Given the description of an element on the screen output the (x, y) to click on. 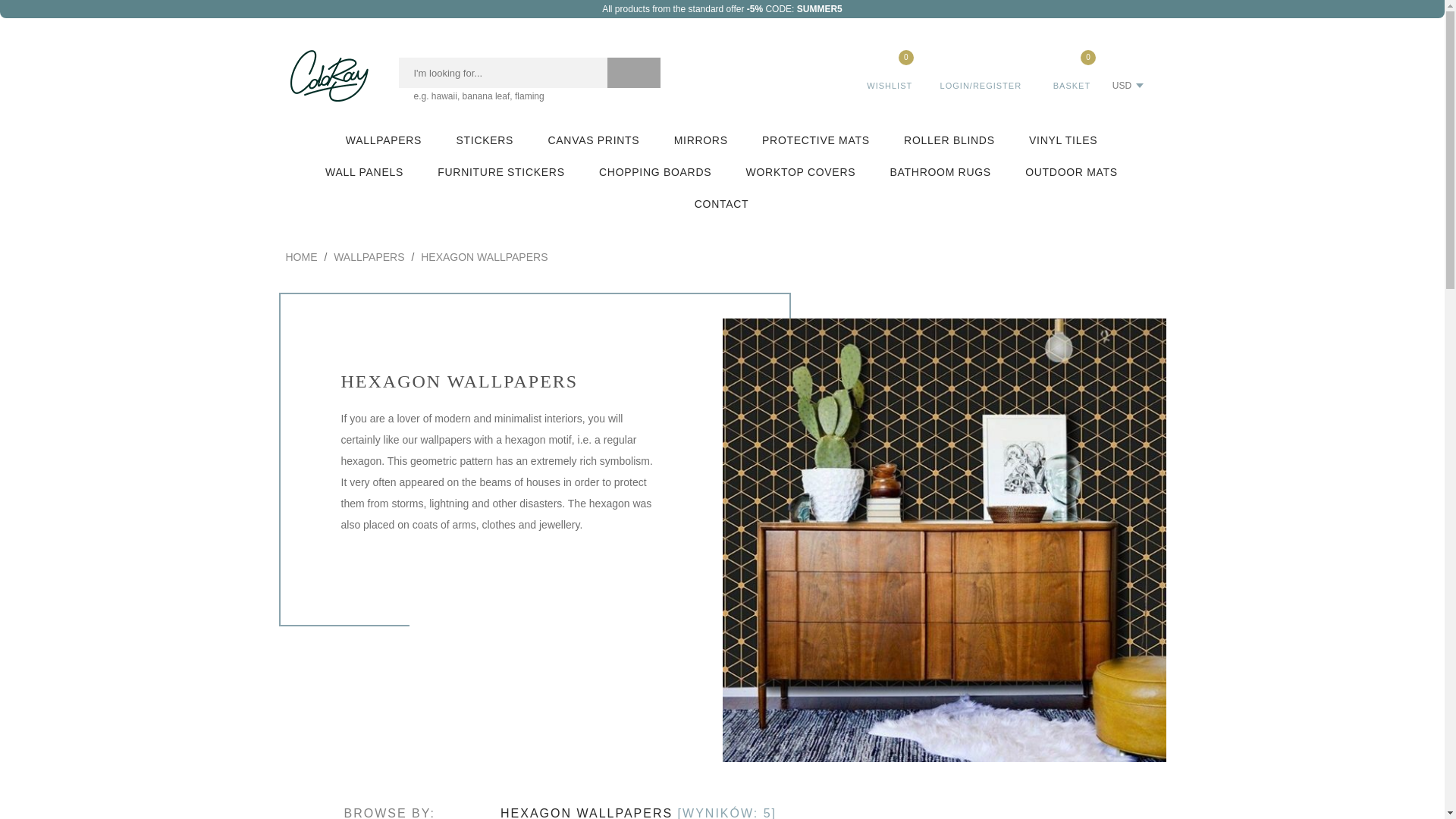
your cart (1070, 69)
hawaii (443, 95)
go to main page (328, 75)
your account (980, 69)
banana leaf (487, 95)
flaming (529, 95)
Wallpapers (383, 140)
